Given the description of an element on the screen output the (x, y) to click on. 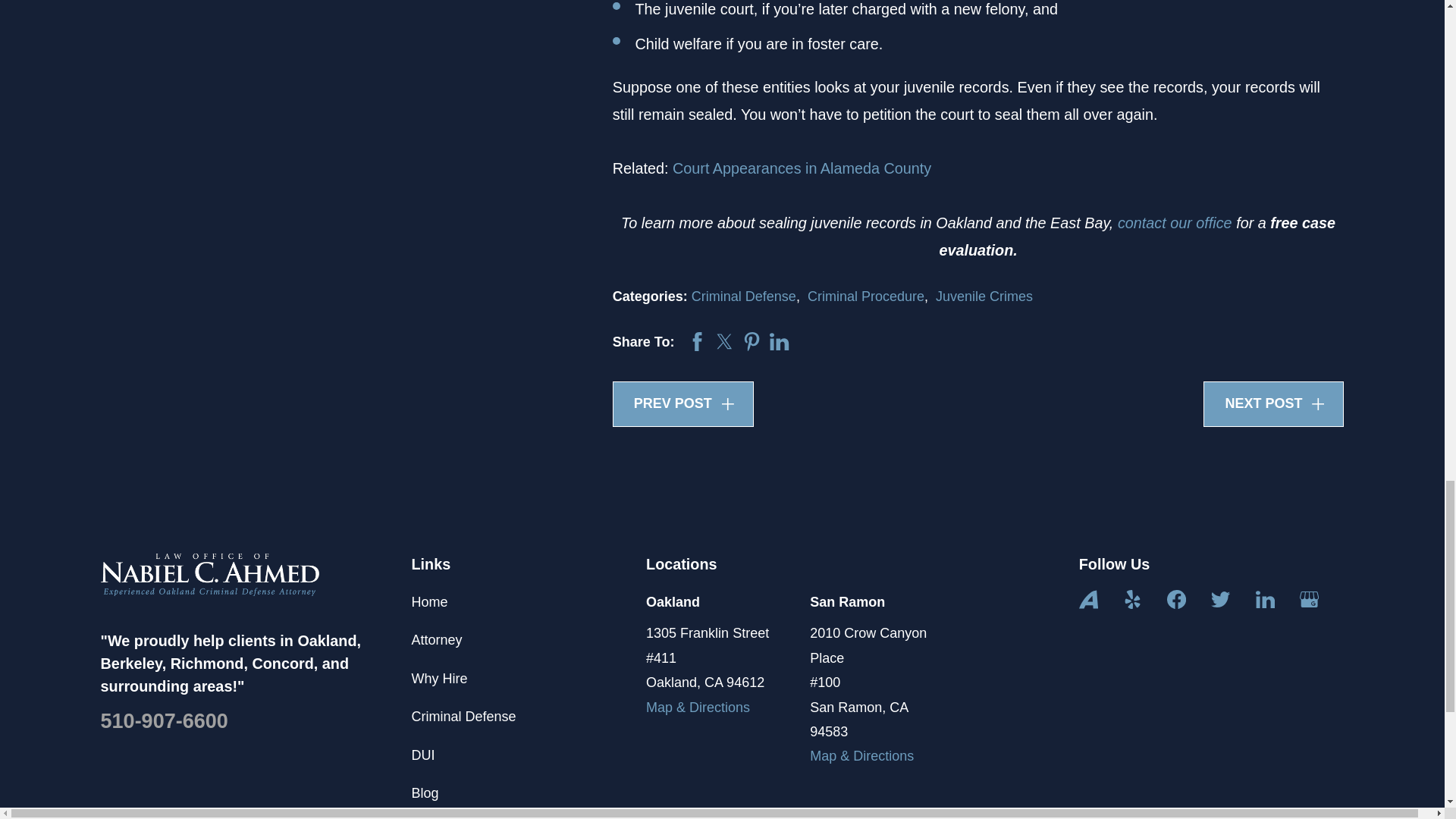
Avvo (1087, 599)
Home (209, 574)
